Given the description of an element on the screen output the (x, y) to click on. 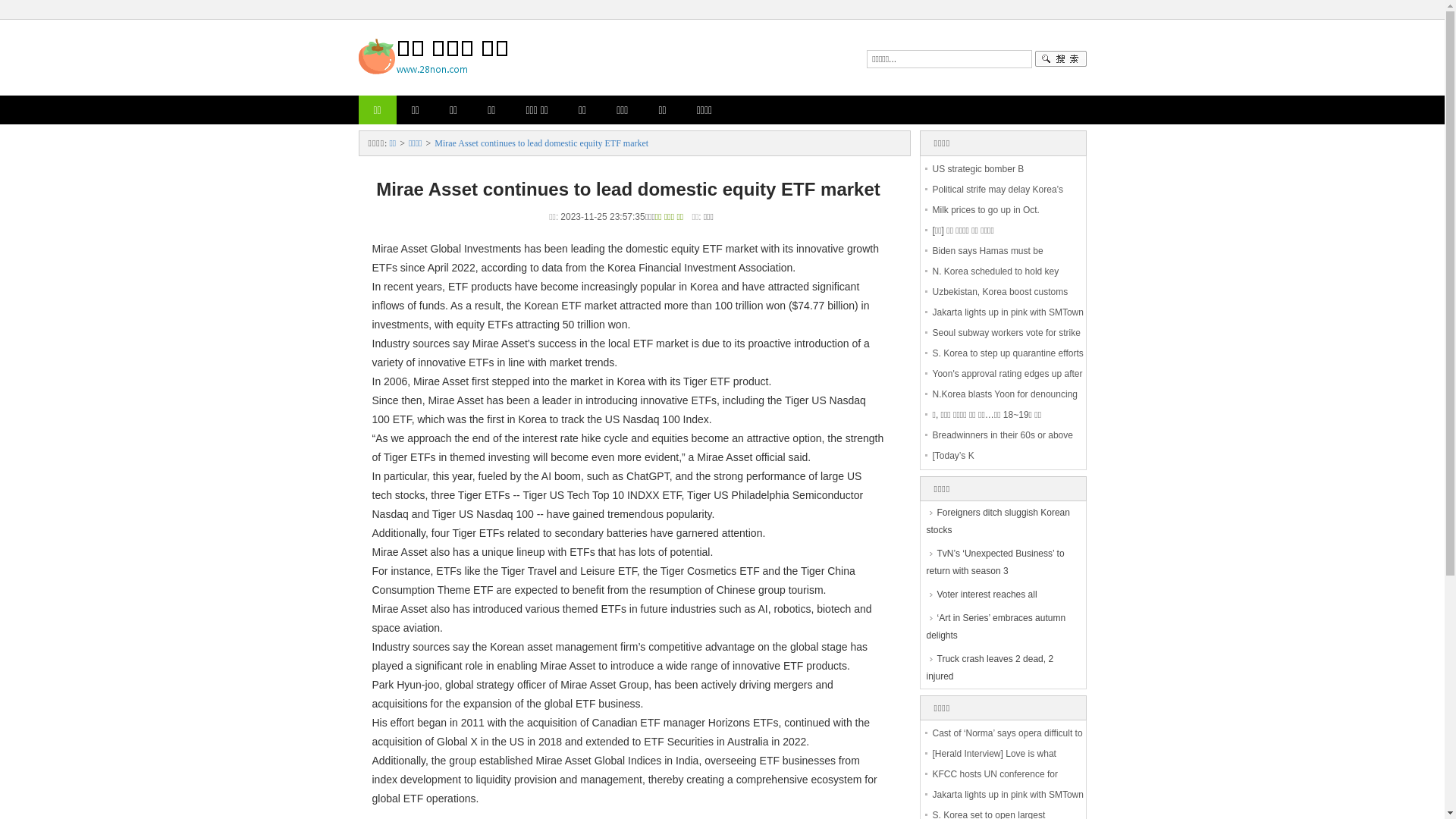
[Herald Interview] Love is what defines artist Dawn Element type: text (994, 763)
KFCC hosts UN conference for inclusive finance Element type: text (994, 784)
US strategic bomber B Element type: text (978, 168)
Foreigners ditch sluggish Korean stocks Element type: text (1002, 521)
Breadwinners in their 60s or above double in 9 years Element type: text (1002, 445)
Truck crash leaves 2 dead, 2 injured Element type: text (1002, 667)
Voter interest reaches all Element type: text (1002, 594)
Mirae Asset continues to lead domestic equity ETF market Element type: text (541, 143)
Jakarta lights up in pink with SMTown Live 2023 Element type: text (1007, 322)
Seoul subway workers vote for strike plan Element type: text (1006, 342)
Uzbekistan, Korea boost customs cooperation Element type: text (1000, 301)
Milk prices to go up in Oct. Element type: text (985, 209)
Yoon's approval rating edges up after 6 Element type: text (1007, 383)
